Given the description of an element on the screen output the (x, y) to click on. 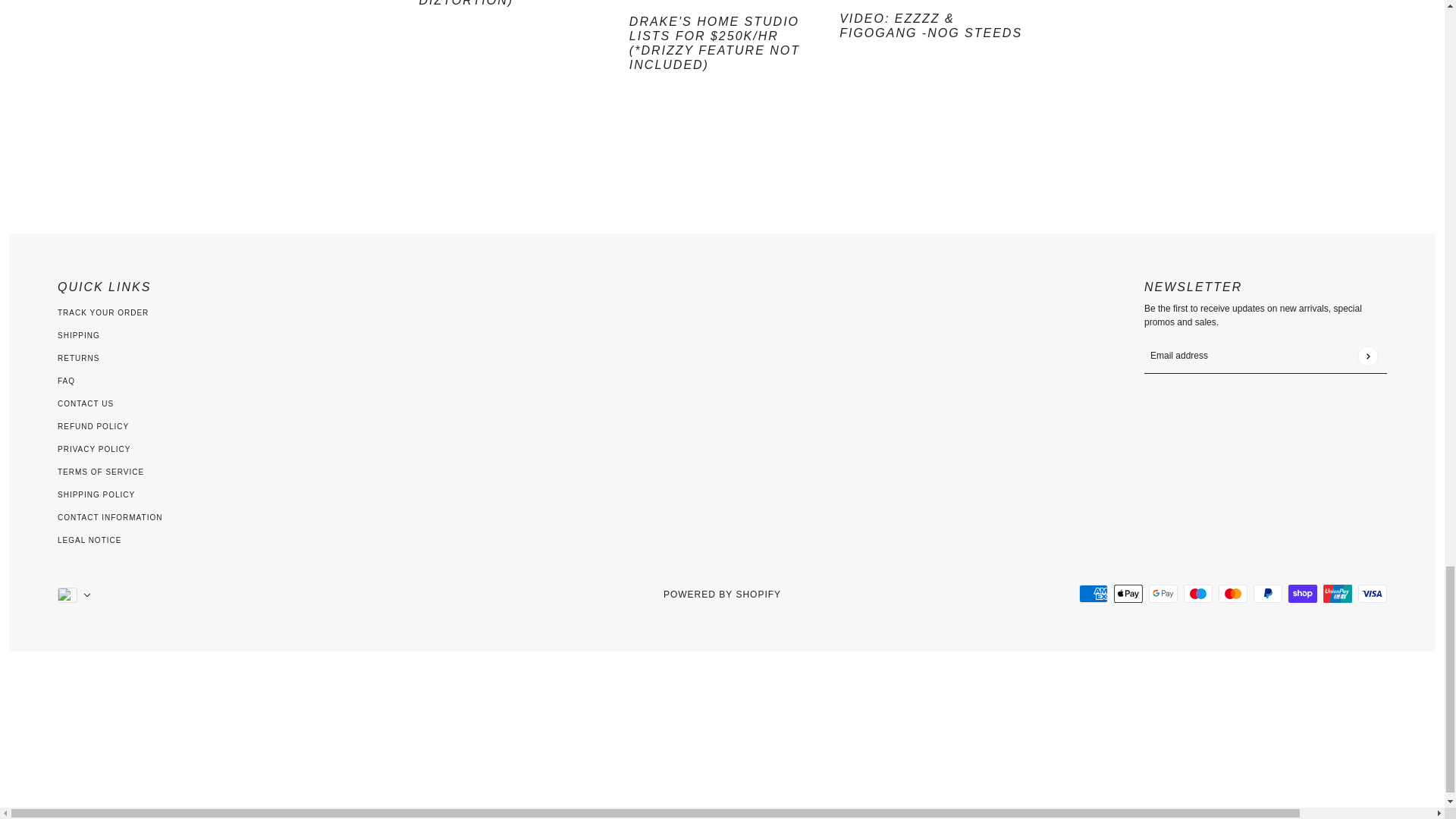
Shipping policy (96, 494)
Refund policy (93, 426)
Track your order (103, 312)
Returns (78, 357)
Shipping (79, 335)
Legal notice (89, 540)
Terms of service (101, 471)
Contact information (109, 517)
Privacy policy (94, 449)
Contact us (85, 403)
